Given the description of an element on the screen output the (x, y) to click on. 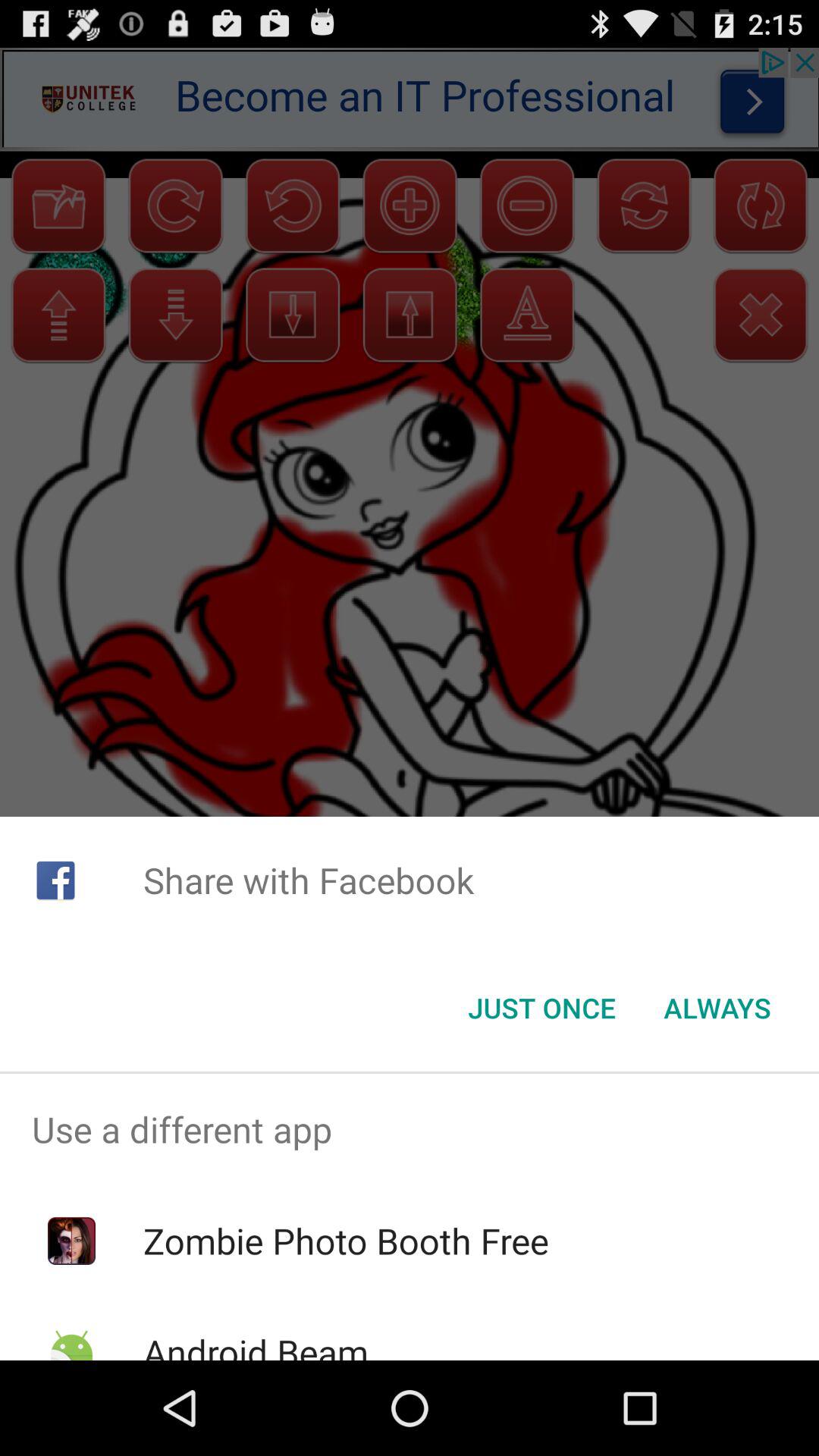
tap always at the bottom right corner (717, 1007)
